Given the description of an element on the screen output the (x, y) to click on. 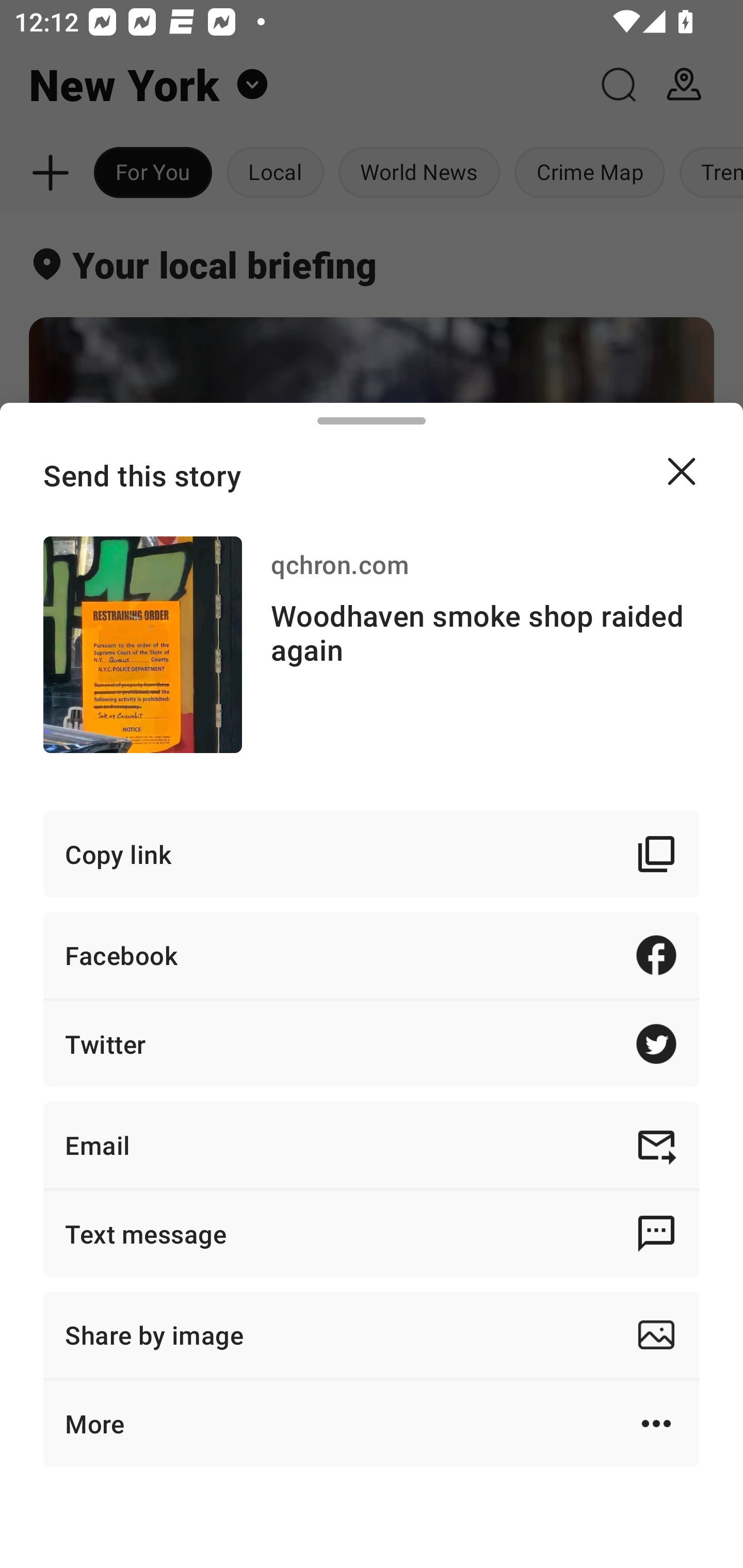
Copy link (371, 853)
Facebook (371, 955)
Twitter (371, 1043)
Email (371, 1145)
Text message (371, 1233)
Share by image (371, 1335)
More (371, 1423)
